Given the description of an element on the screen output the (x, y) to click on. 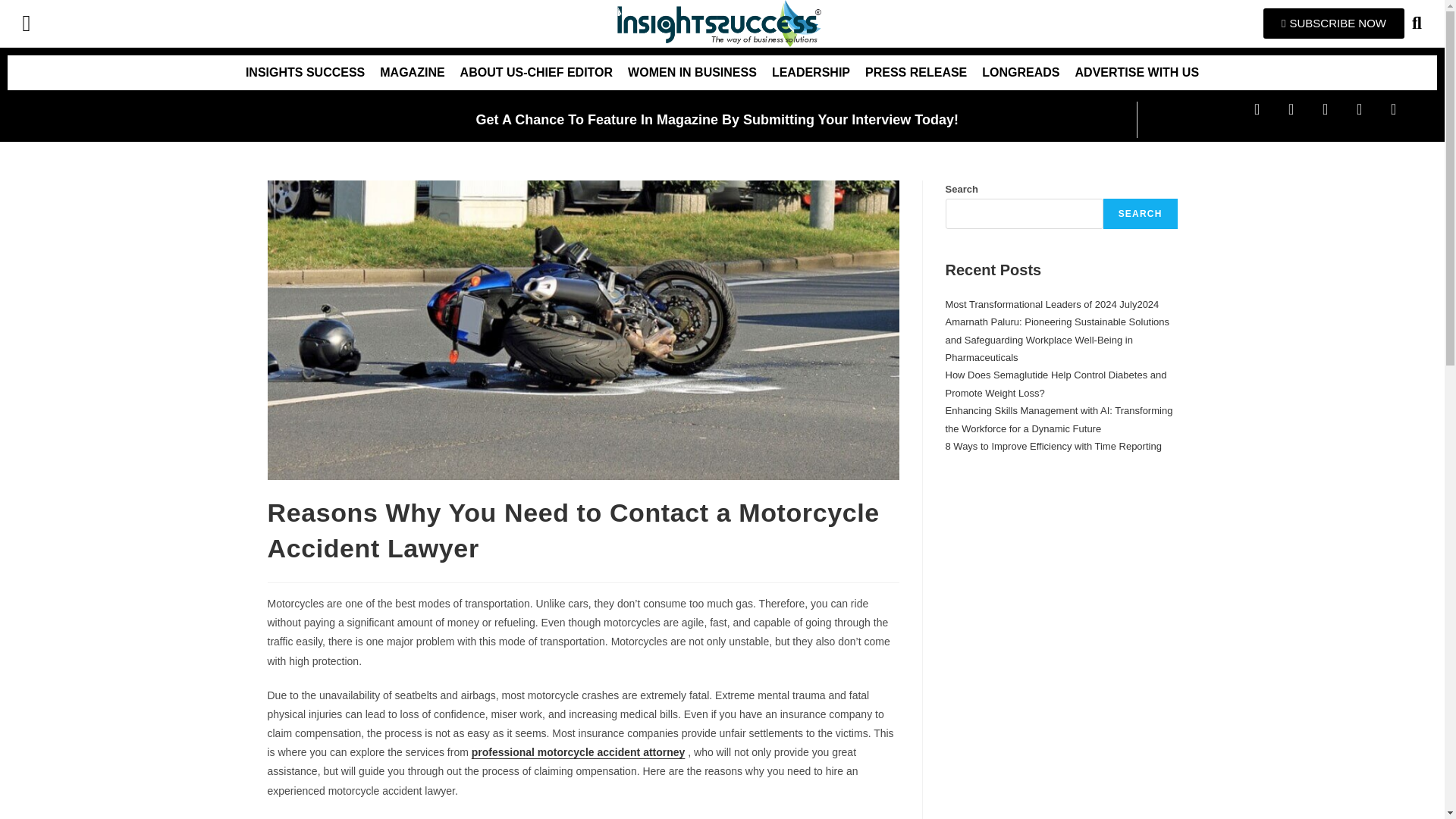
SEARCH (1140, 214)
Most Transformational Leaders of 2024 July2024 (1051, 304)
ABOUT US-CHIEF EDITOR (536, 72)
LONGREADS (1020, 72)
MAGAZINE (411, 72)
8 Ways to Improve Efficiency with Time Reporting (1052, 446)
ADVERTISE WITH US (1137, 72)
PRESS RELEASE (915, 72)
INSIGHTS SUCCESS (305, 72)
professional motorcycle accident attorney (578, 752)
WOMEN IN BUSINESS (692, 72)
